Given the description of an element on the screen output the (x, y) to click on. 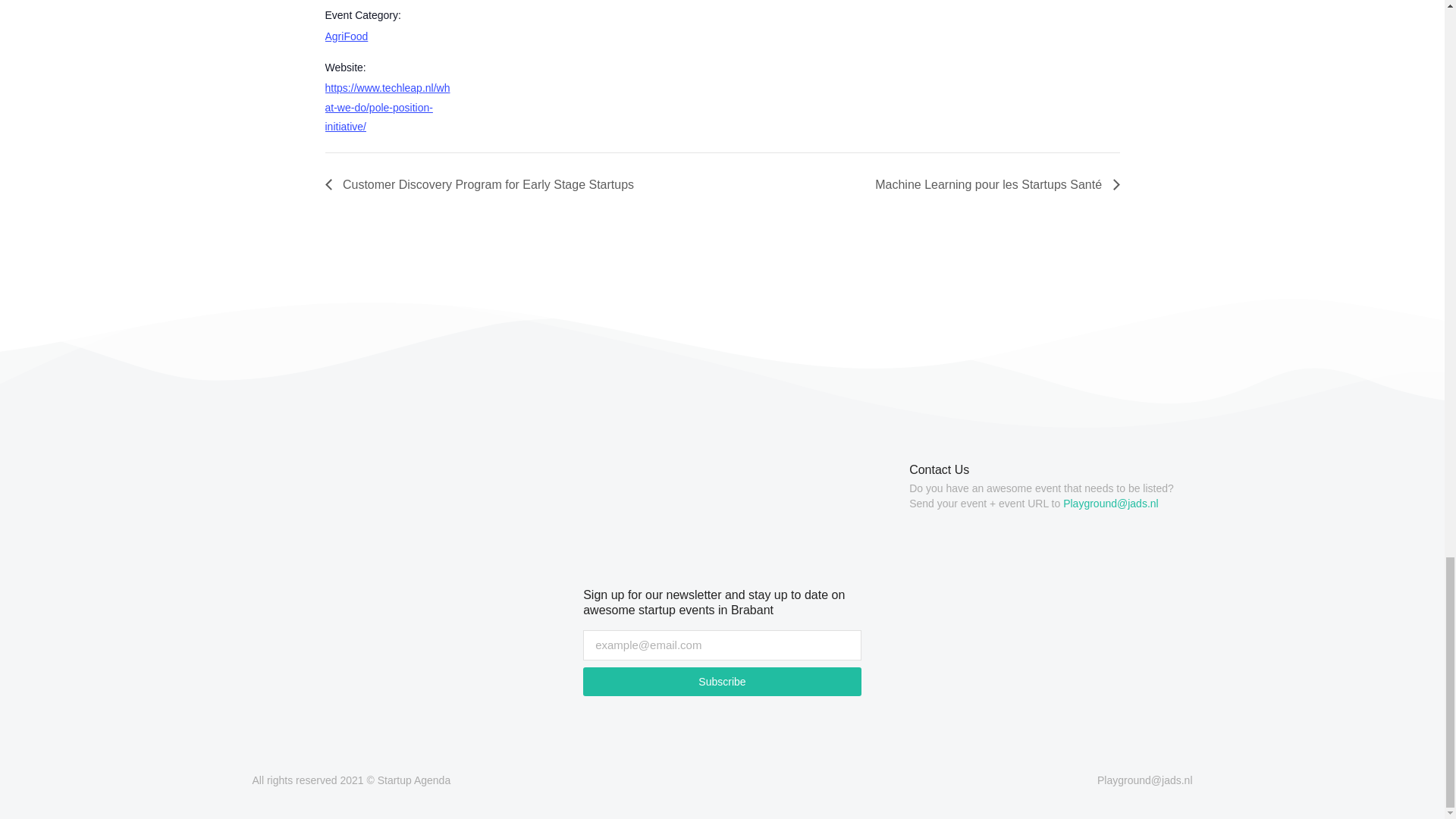
AgriFood (346, 36)
Customer Discovery Program for Early Stage Startups (483, 184)
Subscribe (722, 681)
Subscribe (722, 681)
Contact Us (938, 469)
